Given the description of an element on the screen output the (x, y) to click on. 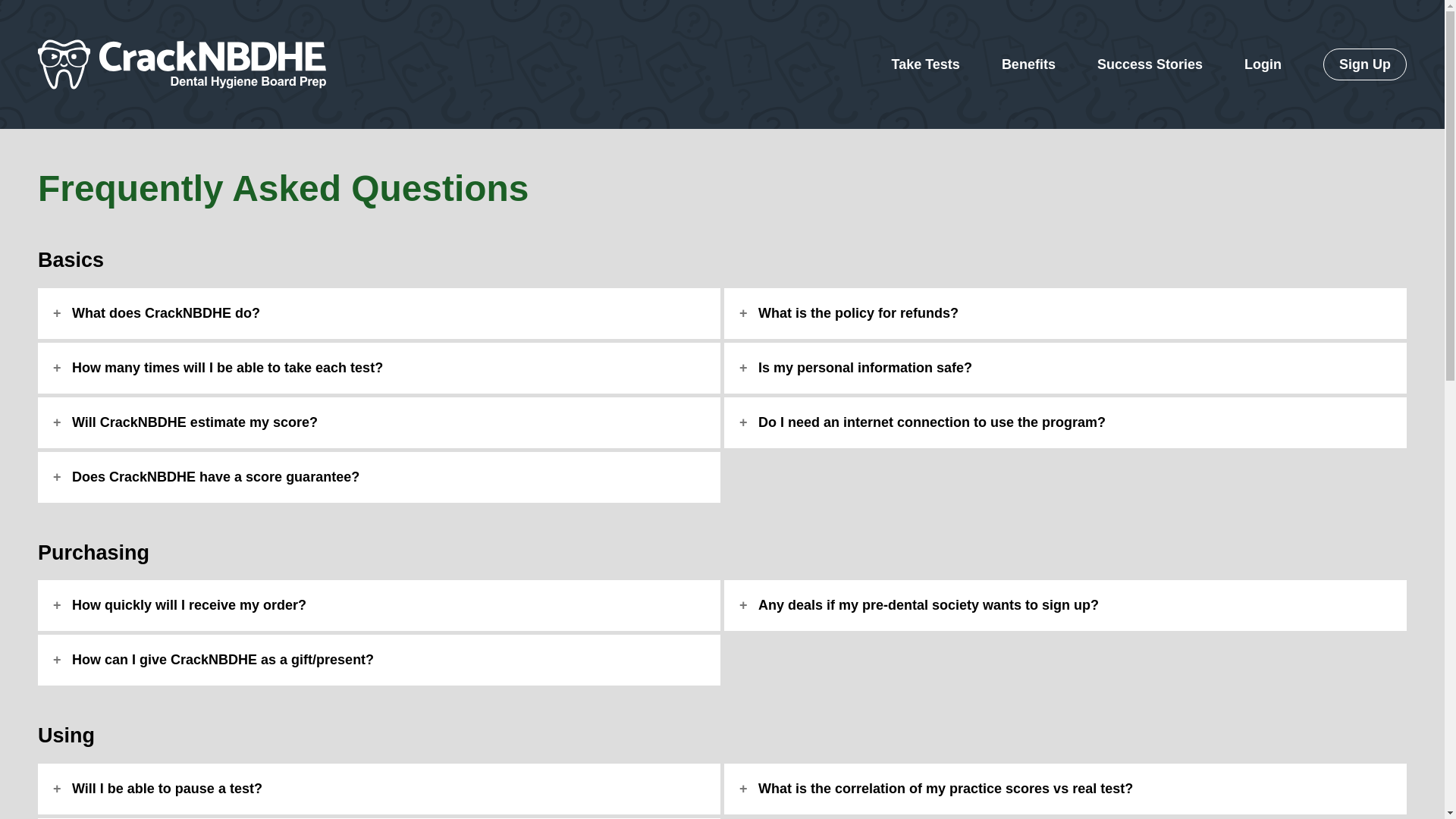
Sign Up (1364, 64)
Success Stories (1149, 63)
Login (1262, 63)
Take Tests (925, 63)
Benefits (1028, 63)
